Given the description of an element on the screen output the (x, y) to click on. 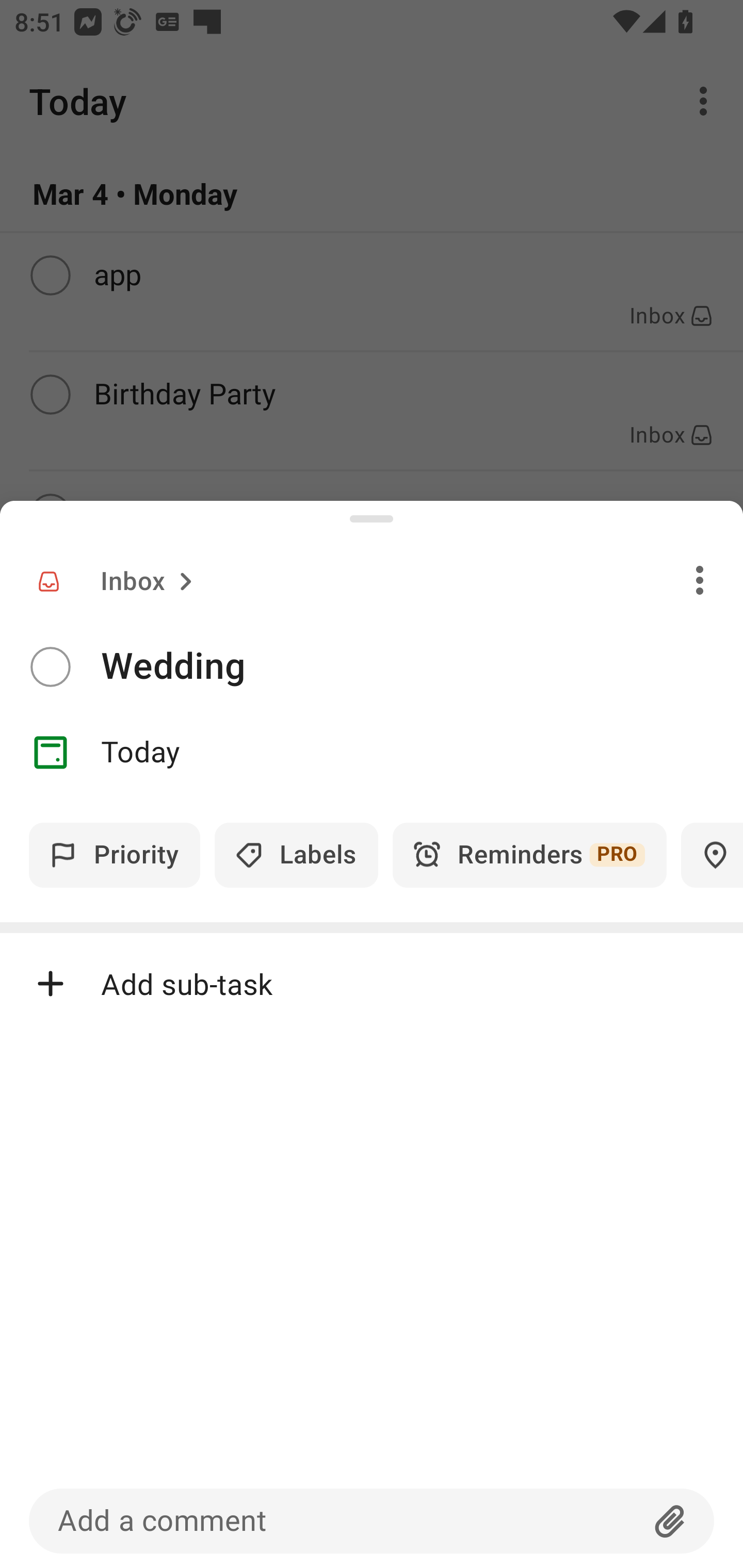
Overflow menu (699, 580)
Complete (50, 667)
Wedding​ (422, 666)
Date Today (371, 752)
Priority (113, 855)
Labels (296, 855)
Reminders PRO (529, 855)
Locations PRO (712, 855)
Add sub-task (371, 983)
Add a comment Attachment (371, 1520)
Attachment (670, 1520)
